Given the description of an element on the screen output the (x, y) to click on. 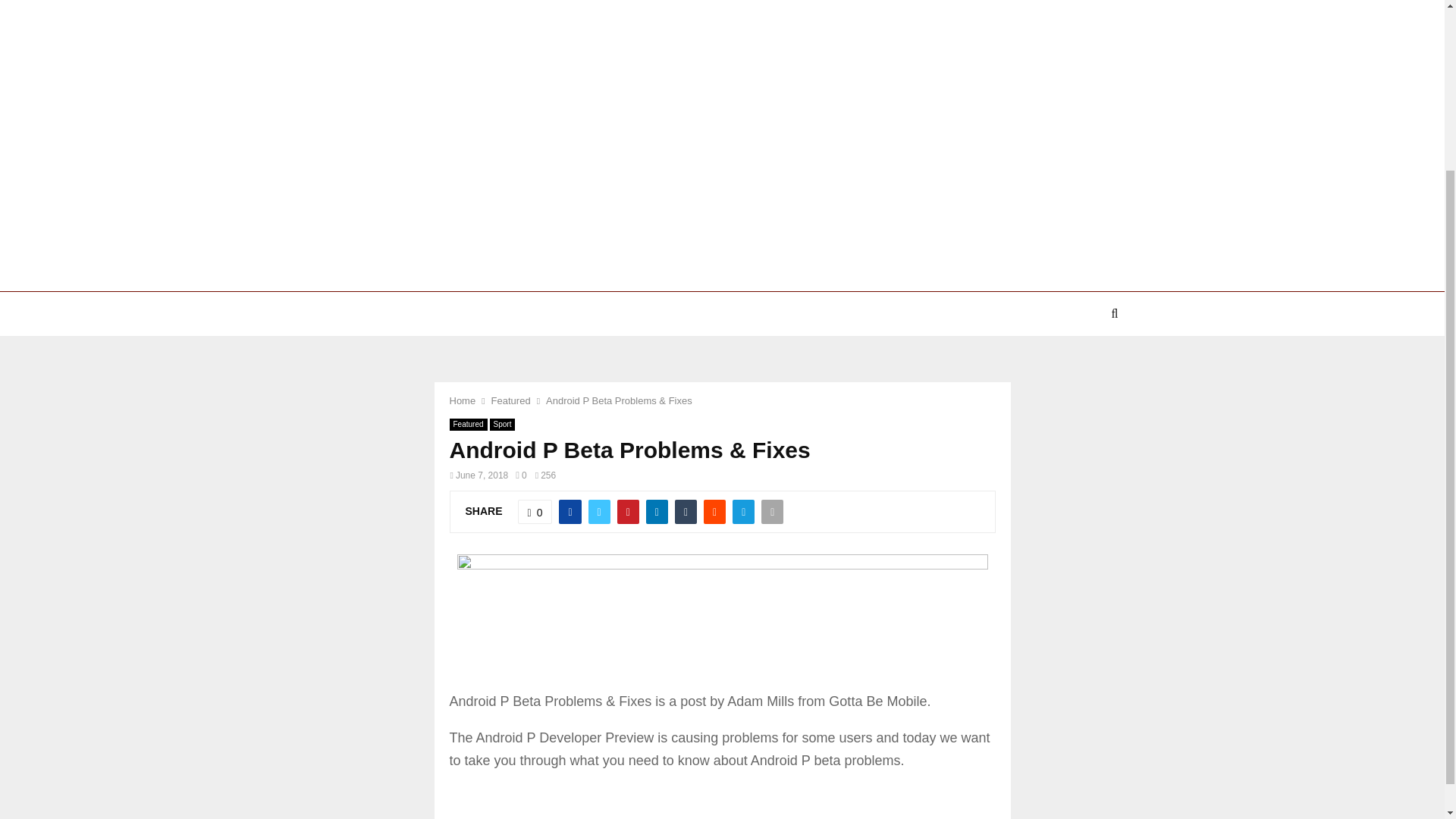
EDUCATION (653, 313)
0 (520, 475)
CORNERSTONE NEWS (460, 313)
0 (535, 511)
BUSINESS (892, 313)
SECURITY TIPS (1051, 313)
Home (462, 400)
EDUCATION (806, 313)
CRIME (356, 313)
SPORT (965, 313)
POLITICS (570, 313)
SPORT (729, 313)
Like (535, 511)
Featured (511, 400)
Featured (467, 424)
